Given the description of an element on the screen output the (x, y) to click on. 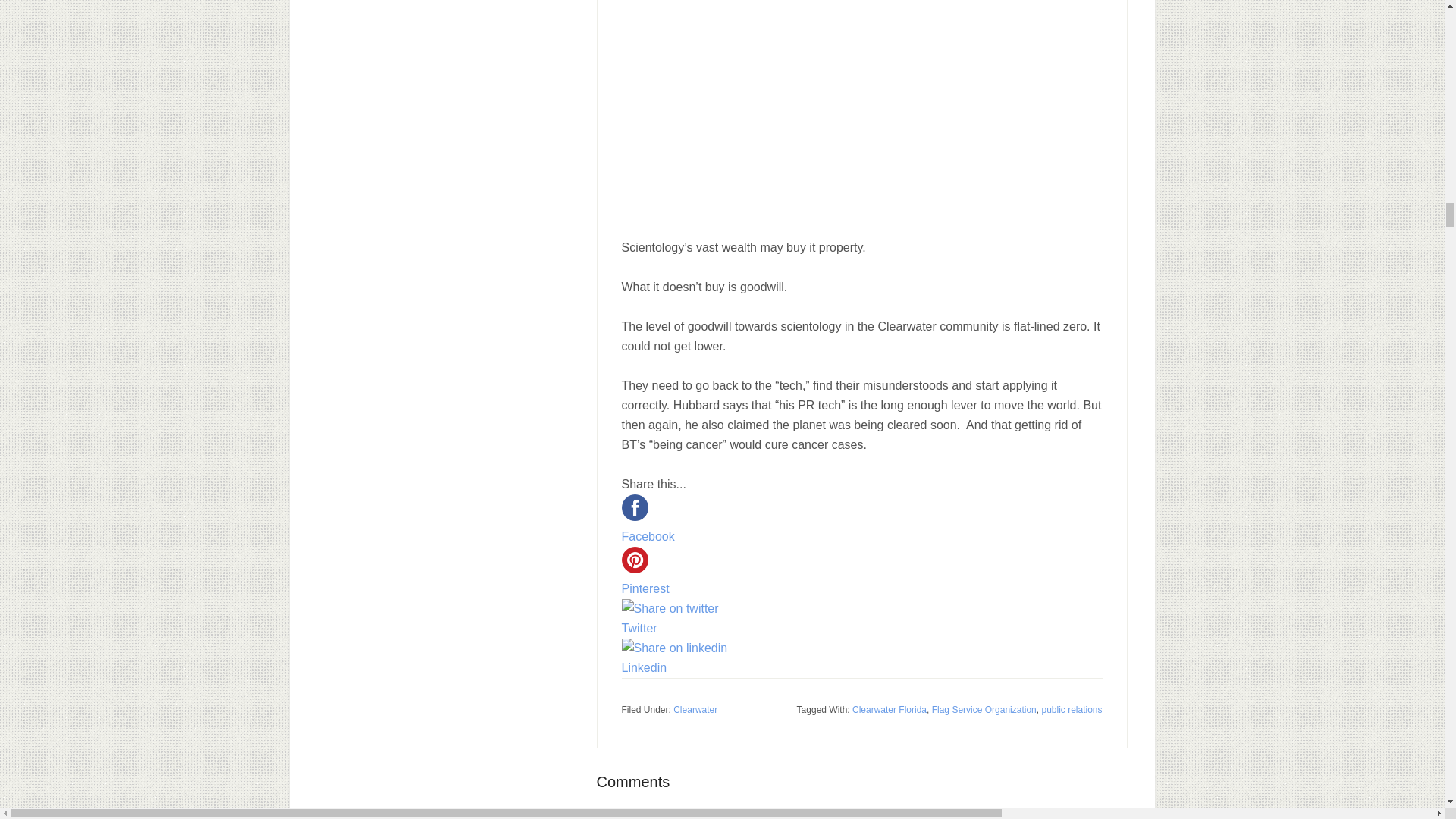
Clearwater Florida (888, 709)
Linkedin (674, 659)
Twitter (674, 627)
public relations (1071, 709)
Pinterest (674, 588)
Facebook (674, 542)
Clearwater (694, 709)
pinterest (634, 560)
Facebook (674, 537)
linkedin (674, 648)
